Given the description of an element on the screen output the (x, y) to click on. 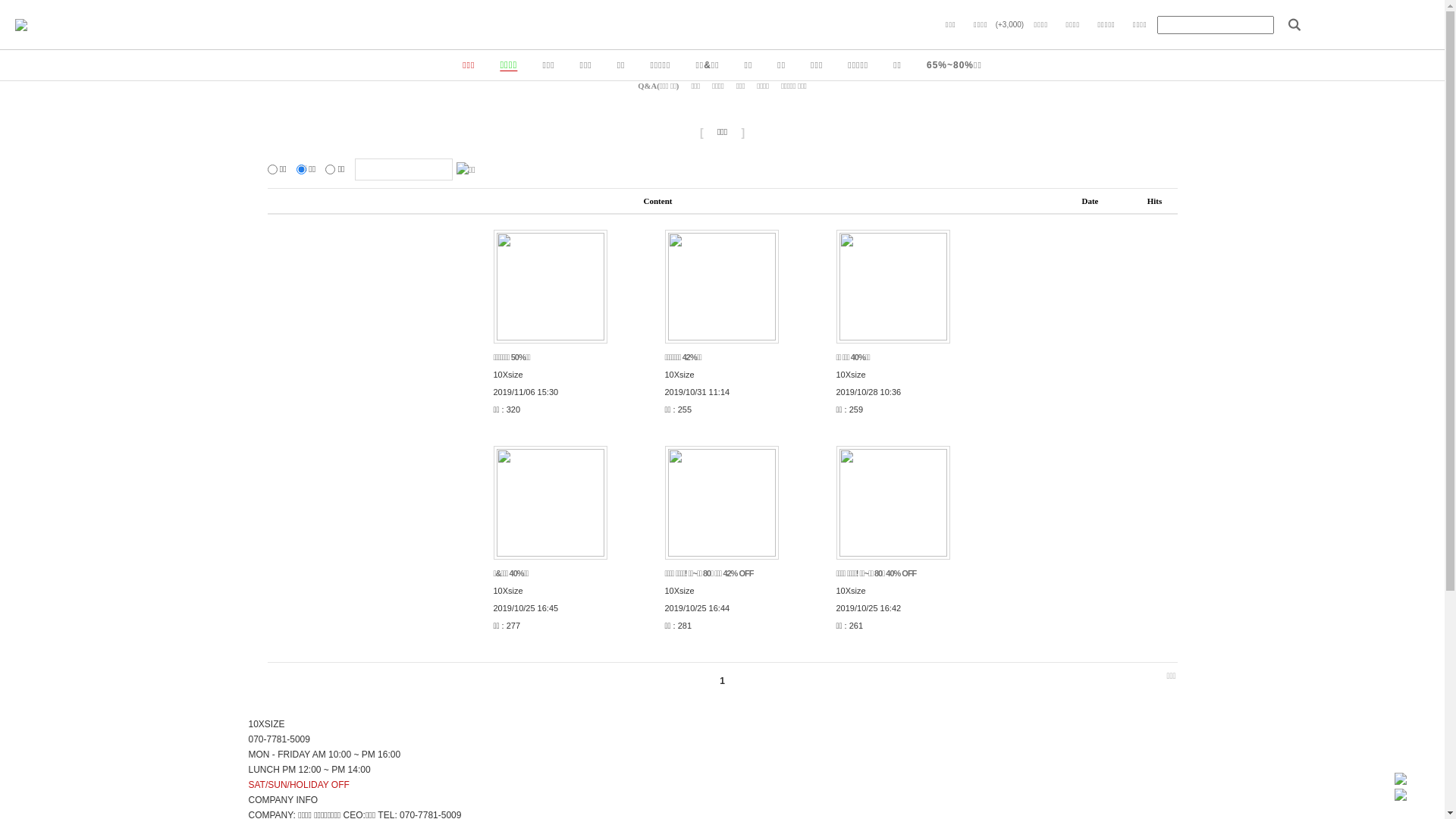
ok Element type: text (301, 169)
ok Element type: text (330, 169)
ok Element type: text (271, 169)
